Given the description of an element on the screen output the (x, y) to click on. 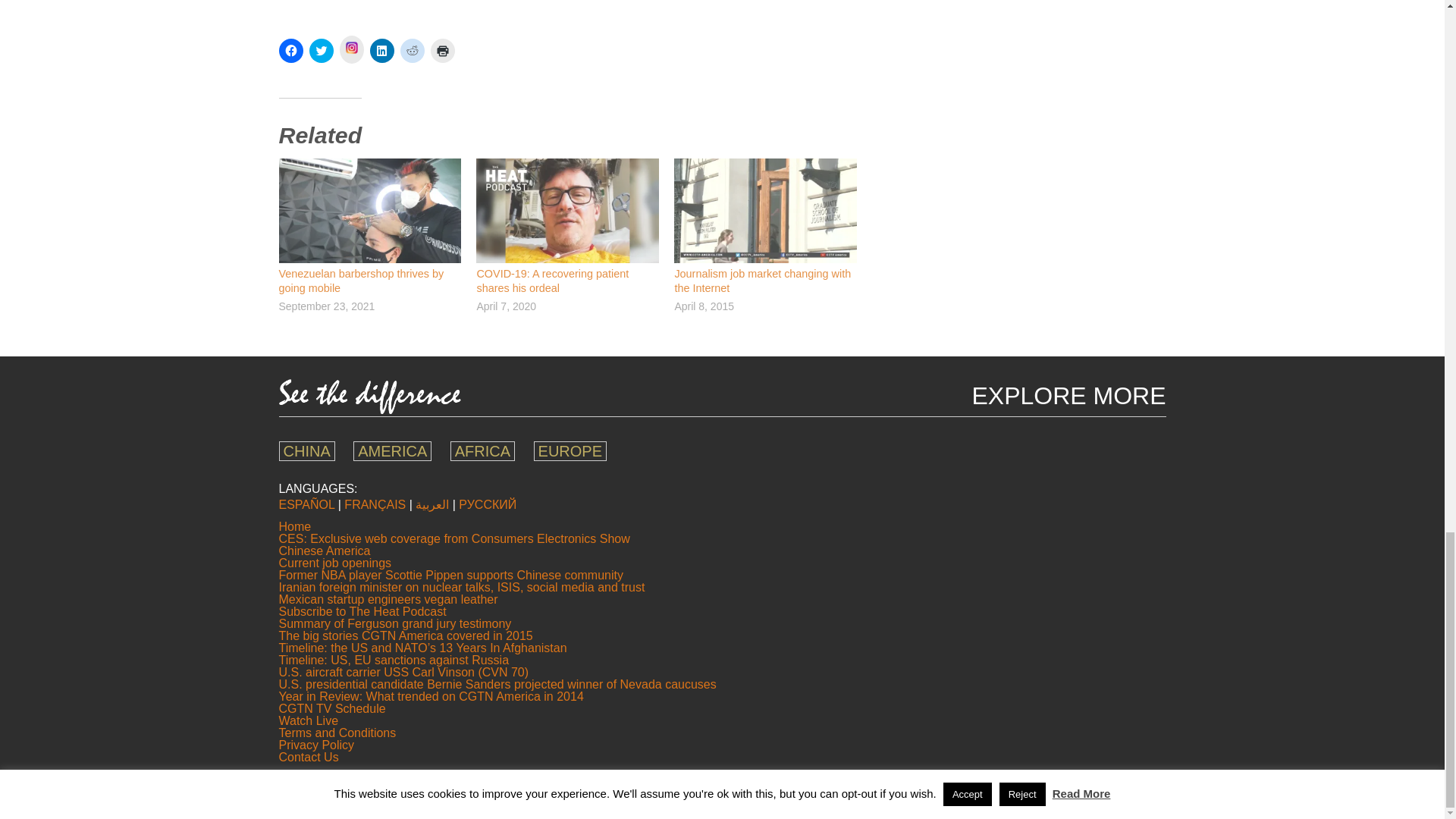
Click to share on LinkedIn (381, 50)
Click to share on Facebook (290, 50)
YouTube player (571, 10)
Click to share on Twitter (320, 50)
